Given the description of an element on the screen output the (x, y) to click on. 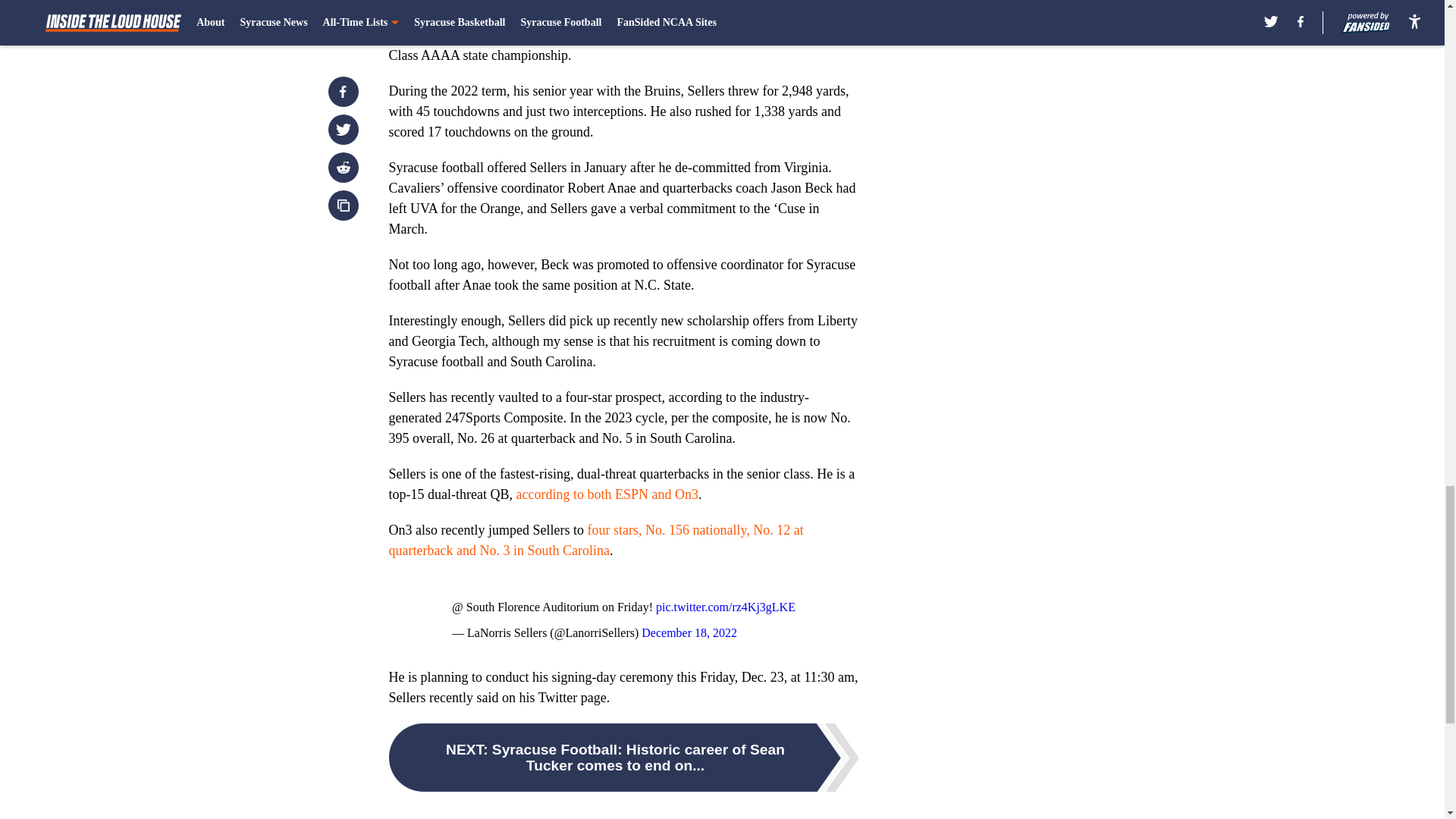
December 18, 2022 (689, 632)
according to both ESPN and On3 (606, 494)
